Given the description of an element on the screen output the (x, y) to click on. 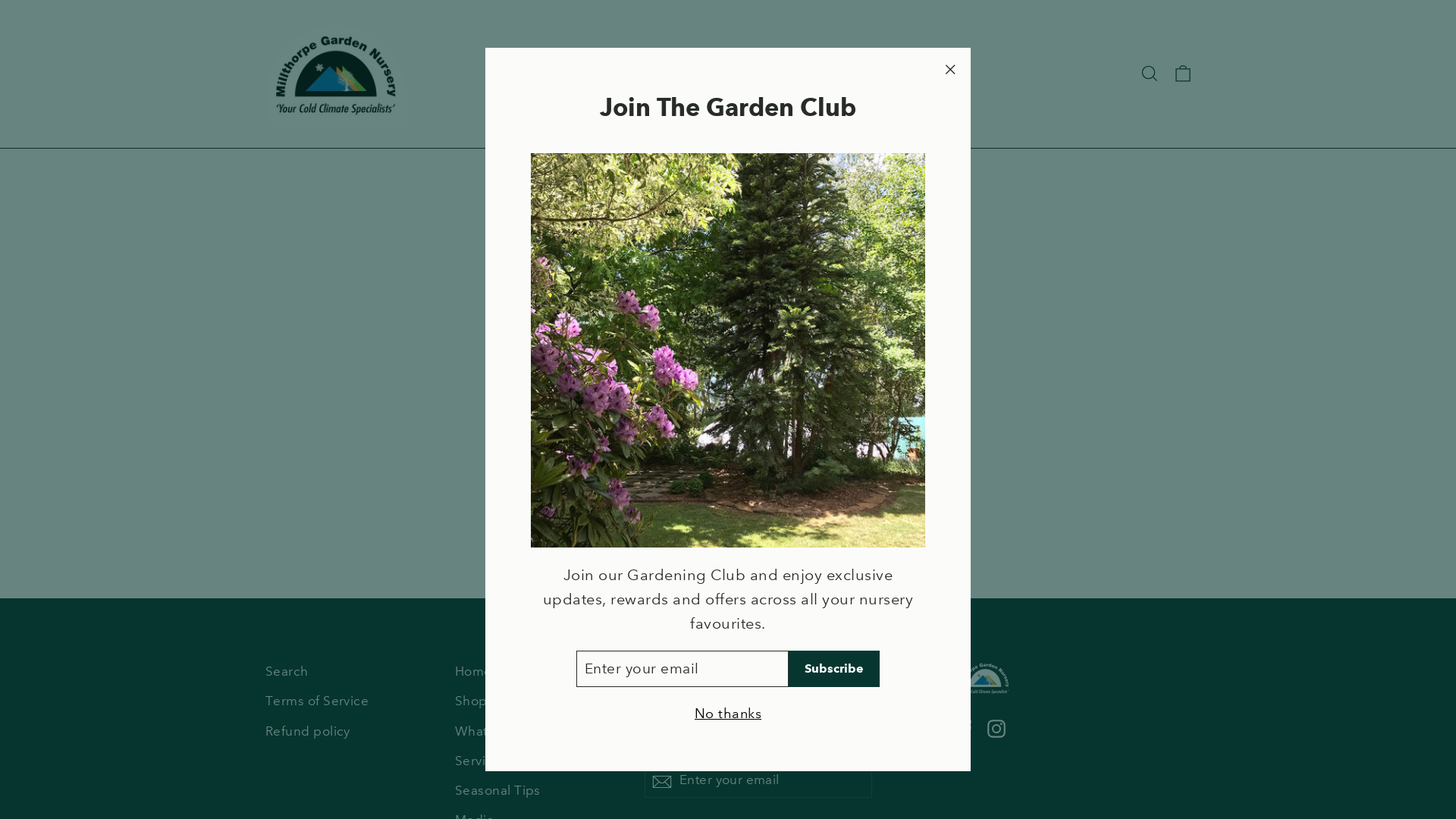
Shop Element type: text (564, 73)
Media Element type: text (842, 73)
Seasonal Tips Element type: text (778, 73)
Terms of Service Element type: text (348, 701)
Services Element type: text (709, 73)
About Element type: text (886, 73)
"Close (esc)" Element type: text (949, 68)
Instagram Element type: text (996, 728)
Shop Element type: text (538, 701)
Search Element type: text (348, 671)
Subscribe Element type: text (661, 780)
Services Element type: text (538, 761)
Seasonal Tips Element type: text (538, 791)
Refund policy Element type: text (348, 731)
No thanks Element type: text (727, 713)
Skip to content Element type: text (0, 0)
Home Element type: text (517, 73)
Subscribe Element type: text (833, 668)
What's In Store Element type: text (538, 731)
Search Element type: text (1149, 73)
Facebook Element type: text (966, 728)
What's In Store Element type: text (636, 73)
Contact Element type: text (934, 73)
Continue shopping Element type: text (727, 257)
Home Element type: text (538, 671)
Cart Element type: text (1182, 73)
